Given the description of an element on the screen output the (x, y) to click on. 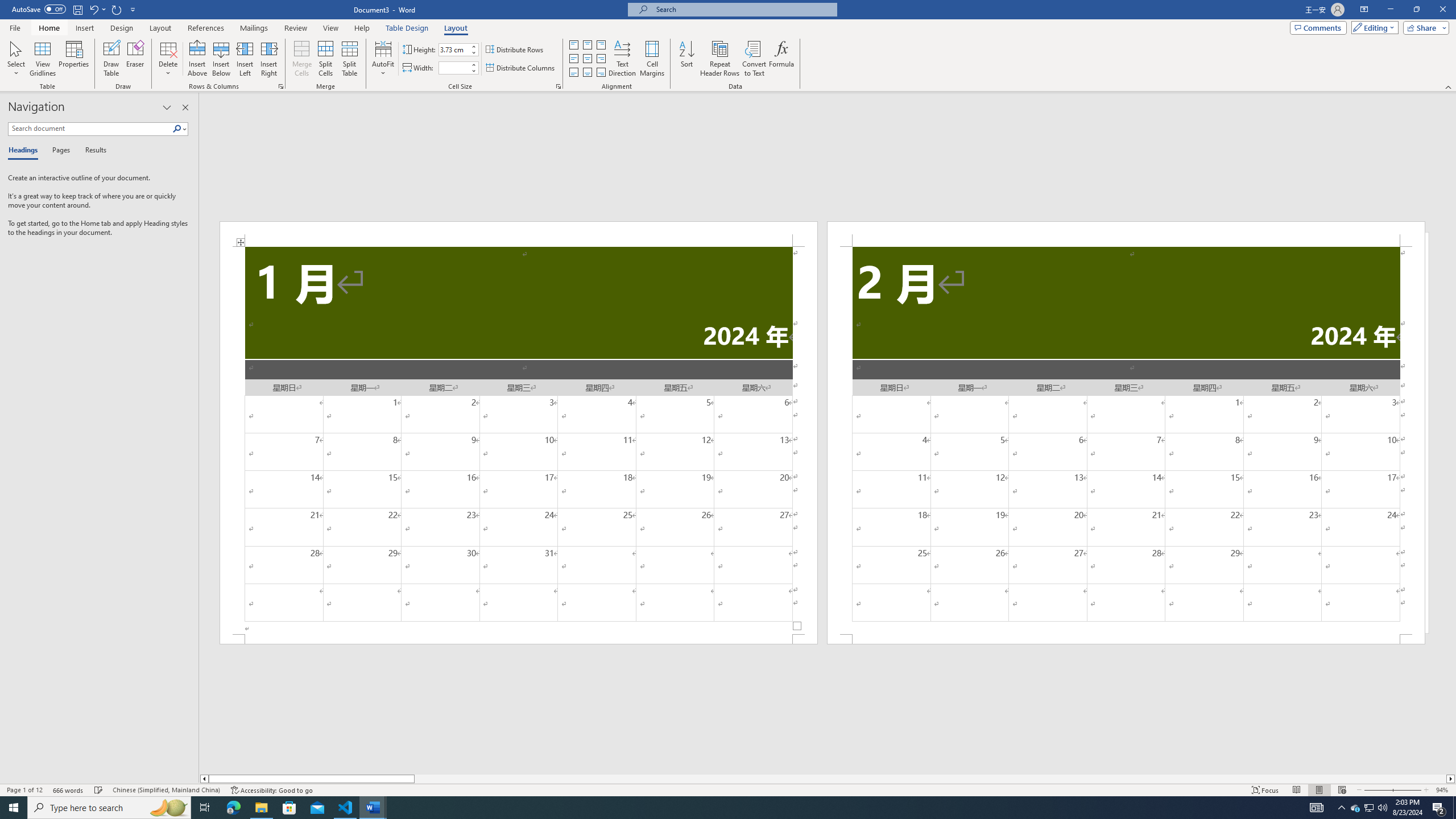
Split Table (349, 58)
Formula... (780, 58)
Draw Table (111, 58)
Delete (167, 58)
Page Number Page 1 of 12 (24, 790)
Eraser (135, 58)
View Gridlines (42, 58)
Less (473, 70)
